Given the description of an element on the screen output the (x, y) to click on. 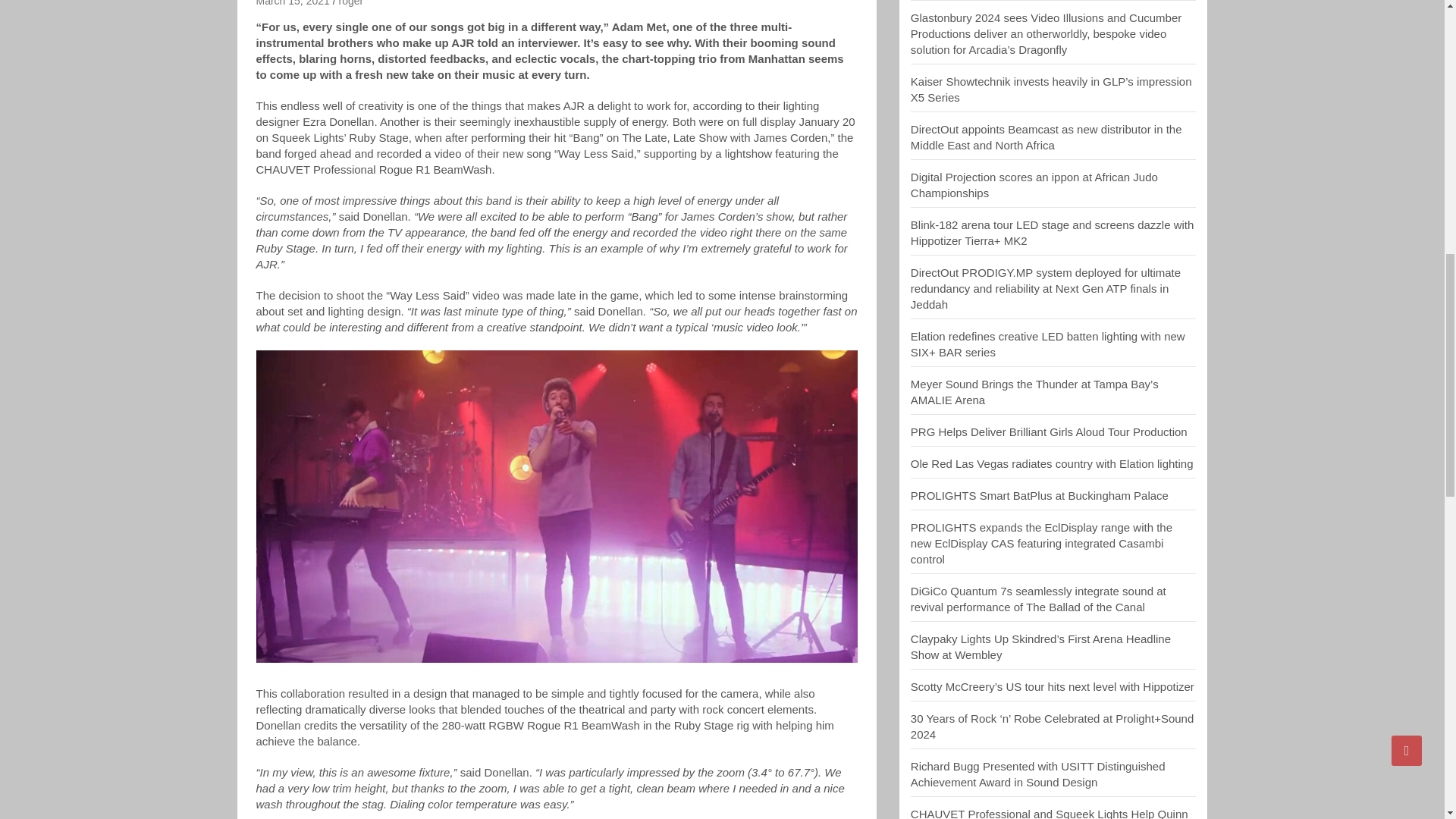
March 15, 2021 (293, 3)
roger (349, 3)
